Given the description of an element on the screen output the (x, y) to click on. 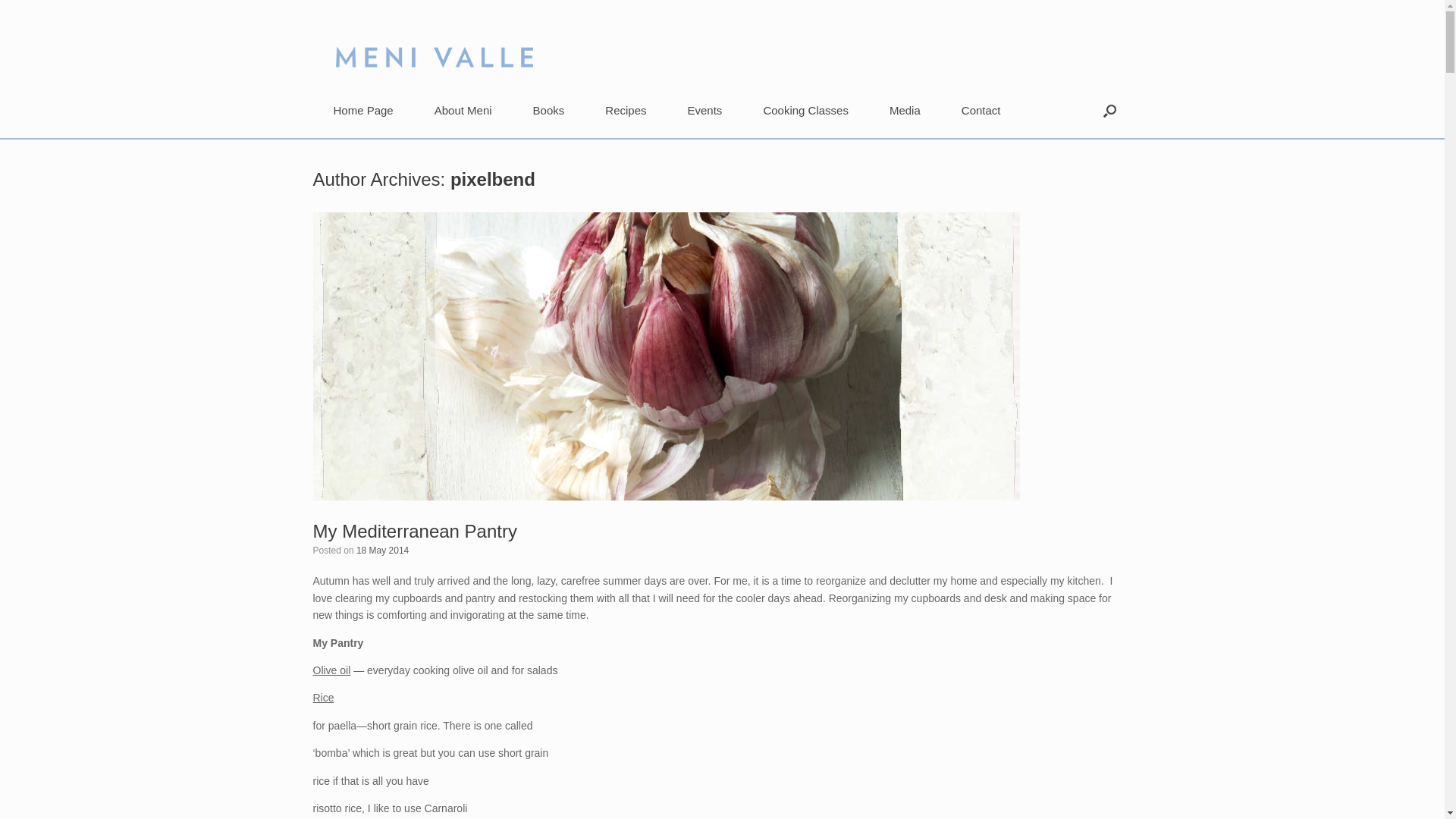
Contact Element type: text (981, 109)
About Meni Element type: text (463, 109)
meni valle Element type: hover (422, 41)
Media Element type: text (905, 109)
Books Element type: text (548, 109)
pixelbend Element type: text (492, 178)
Recipes Element type: text (625, 109)
Home Page Element type: text (362, 109)
Cooking Classes Element type: text (805, 109)
Events Element type: text (705, 109)
18 May 2014 Element type: text (382, 550)
My Mediterranean Pantry Element type: text (414, 530)
Skip to content Element type: text (0, 0)
